Given the description of an element on the screen output the (x, y) to click on. 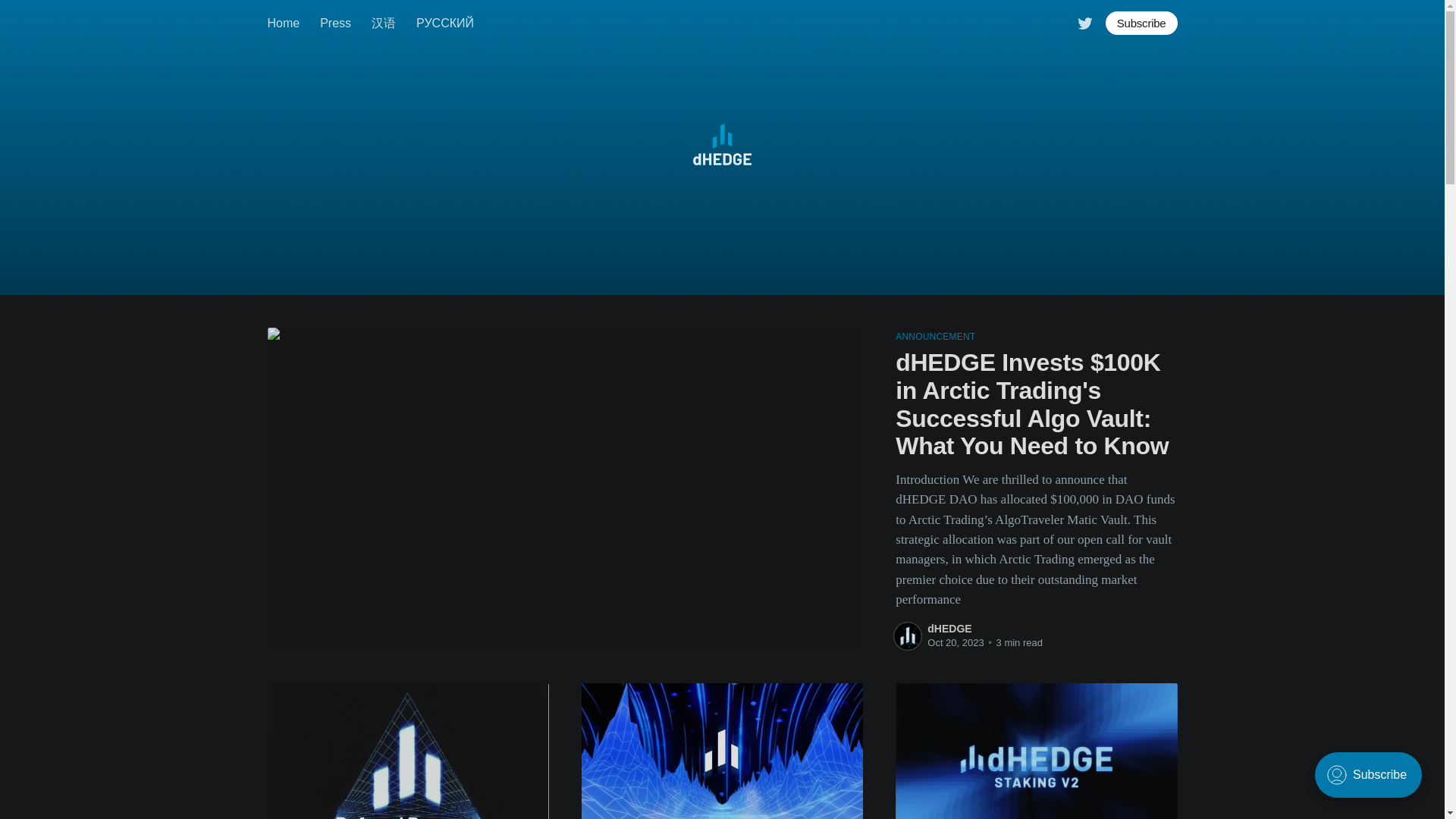
Home (282, 22)
dHEDGE (949, 628)
Press (335, 22)
Subscribe (1141, 23)
Twitter (1085, 21)
